Given the description of an element on the screen output the (x, y) to click on. 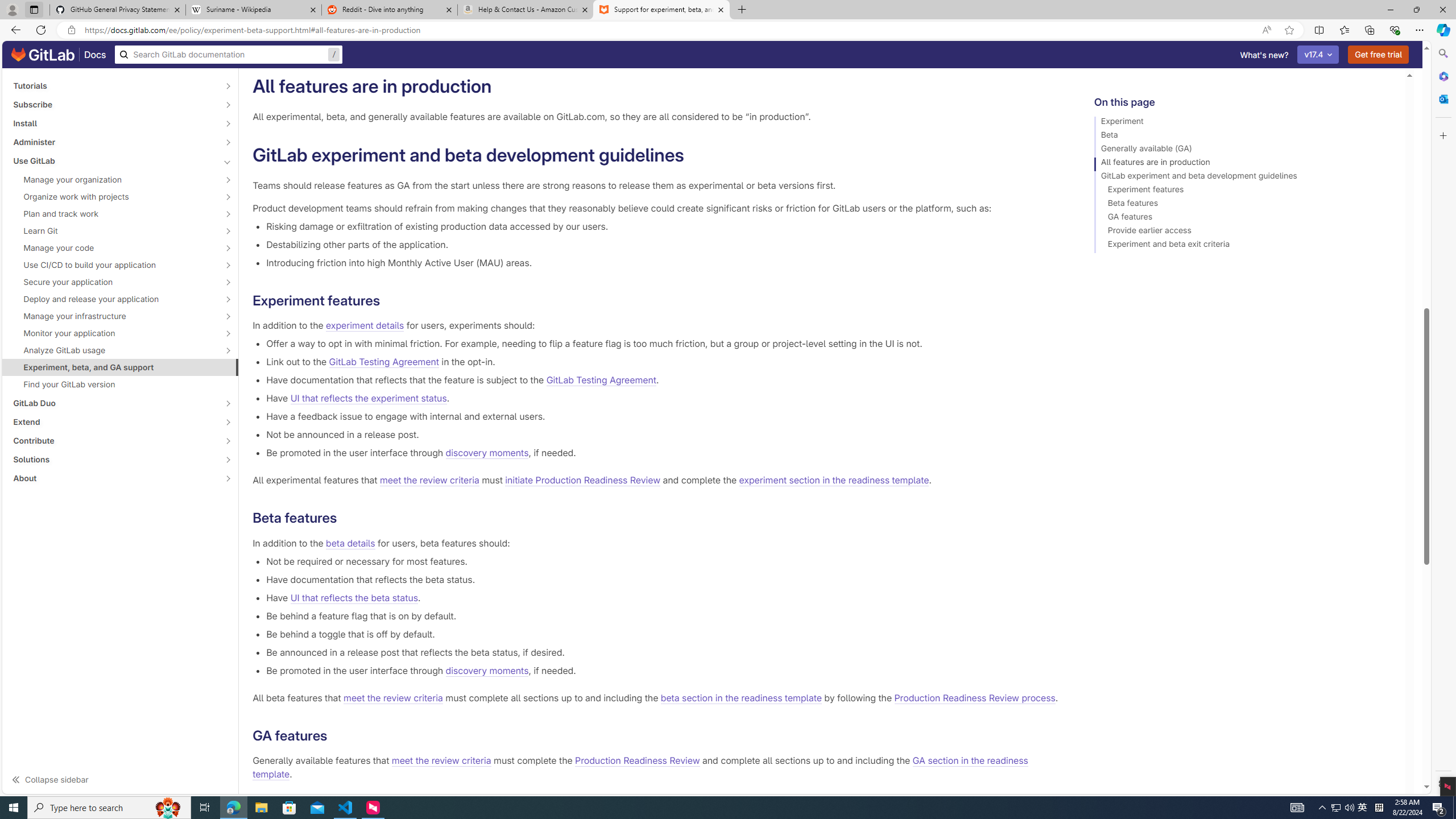
Manage your organization (113, 179)
Use GitLab (113, 160)
Manage your infrastructure (113, 316)
UI that reflects the beta status (353, 597)
